Given the description of an element on the screen output the (x, y) to click on. 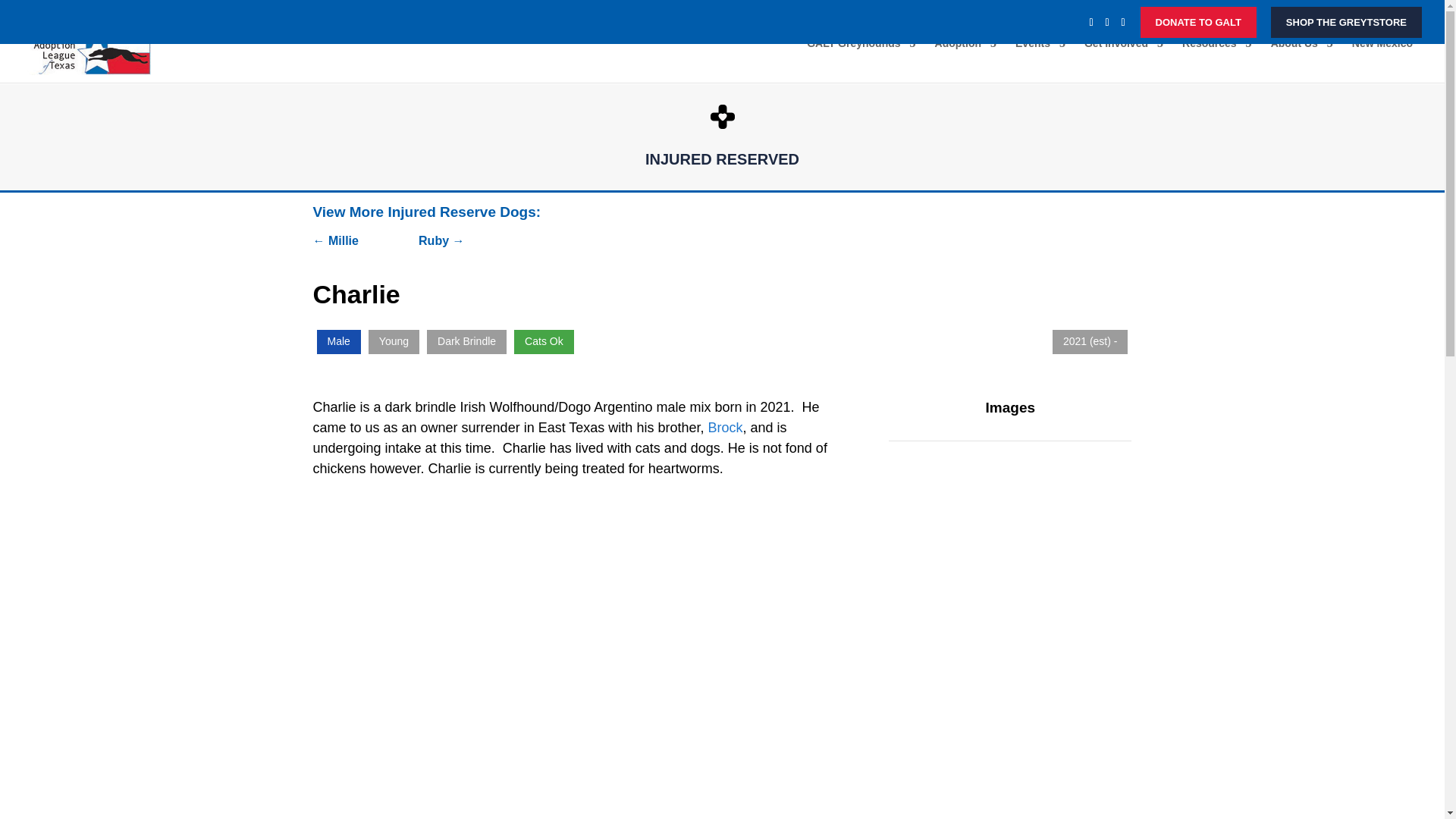
Get Involved (1123, 59)
Events (1039, 59)
GALT Greyhounds (860, 59)
Resources (1217, 59)
SHOP THE GREYTSTORE (1346, 20)
DONATE TO GALT (1198, 20)
Adoption (964, 59)
